Given the description of an element on the screen output the (x, y) to click on. 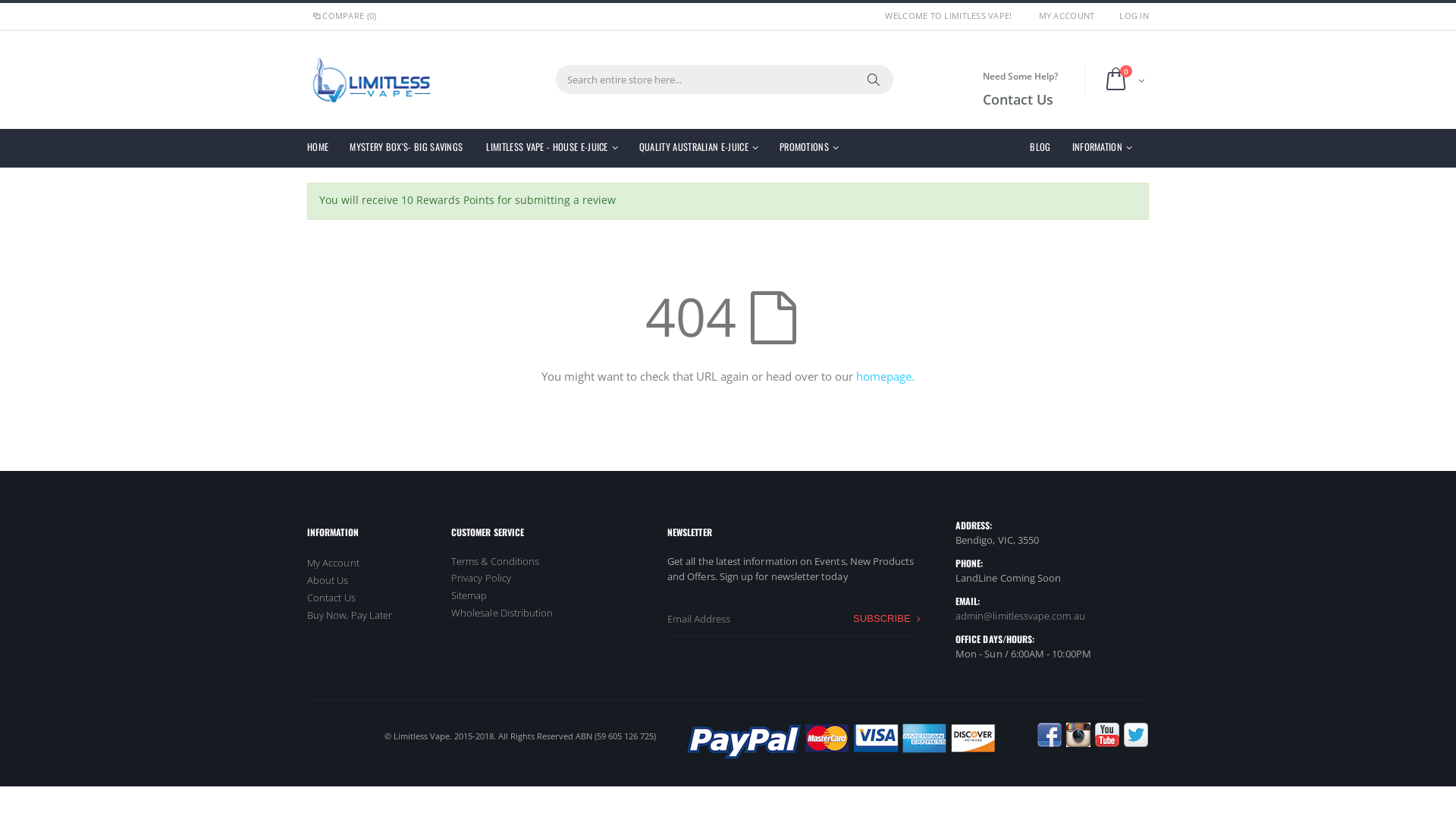
0 Element type: text (1123, 80)
PROMOTIONS Element type: text (813, 148)
admin@limitlessvape.com.au Element type: text (1020, 615)
Privacy Policy Element type: text (481, 577)
Sitemap Element type: text (468, 595)
LOG IN Element type: text (1133, 15)
  Element type: text (321, 733)
homepage. Element type: text (885, 375)
QUALITY AUSTRALIAN E-JUICE Element type: text (703, 148)
  Element type: text (346, 733)
BLOG Element type: text (1045, 148)
About Us Element type: text (327, 579)
My Account Element type: text (333, 562)
MYSTERY BOX'S- BIG SAVINGS Element type: text (411, 148)
Instagram Element type: hover (1078, 735)
Twitter Element type: hover (1135, 735)
  Element type: text (372, 733)
COMPARE (0) Element type: text (343, 15)
Buy Now, Pay Later Element type: text (349, 614)
Facebook Element type: hover (321, 733)
Youtube Element type: hover (1107, 735)
MY ACCOUNT Element type: text (1066, 15)
Limitless Vape Australian E-juice Element type: hover (371, 79)
LIMITLESS VAPE - HOUSE E-JUICE Element type: text (556, 148)
Sign up for our newsletter Element type: hover (792, 618)
SUBSCRIBE Element type: text (886, 618)
Search Element type: hover (874, 79)
Contact Us Element type: text (331, 597)
Terms & Conditions Element type: text (495, 560)
INFORMATION Element type: text (1106, 148)
Facebook Element type: hover (1049, 735)
Contact Us Element type: text (1019, 99)
Wholesale Distribution Element type: text (501, 612)
HOME Element type: text (323, 148)
